Given the description of an element on the screen output the (x, y) to click on. 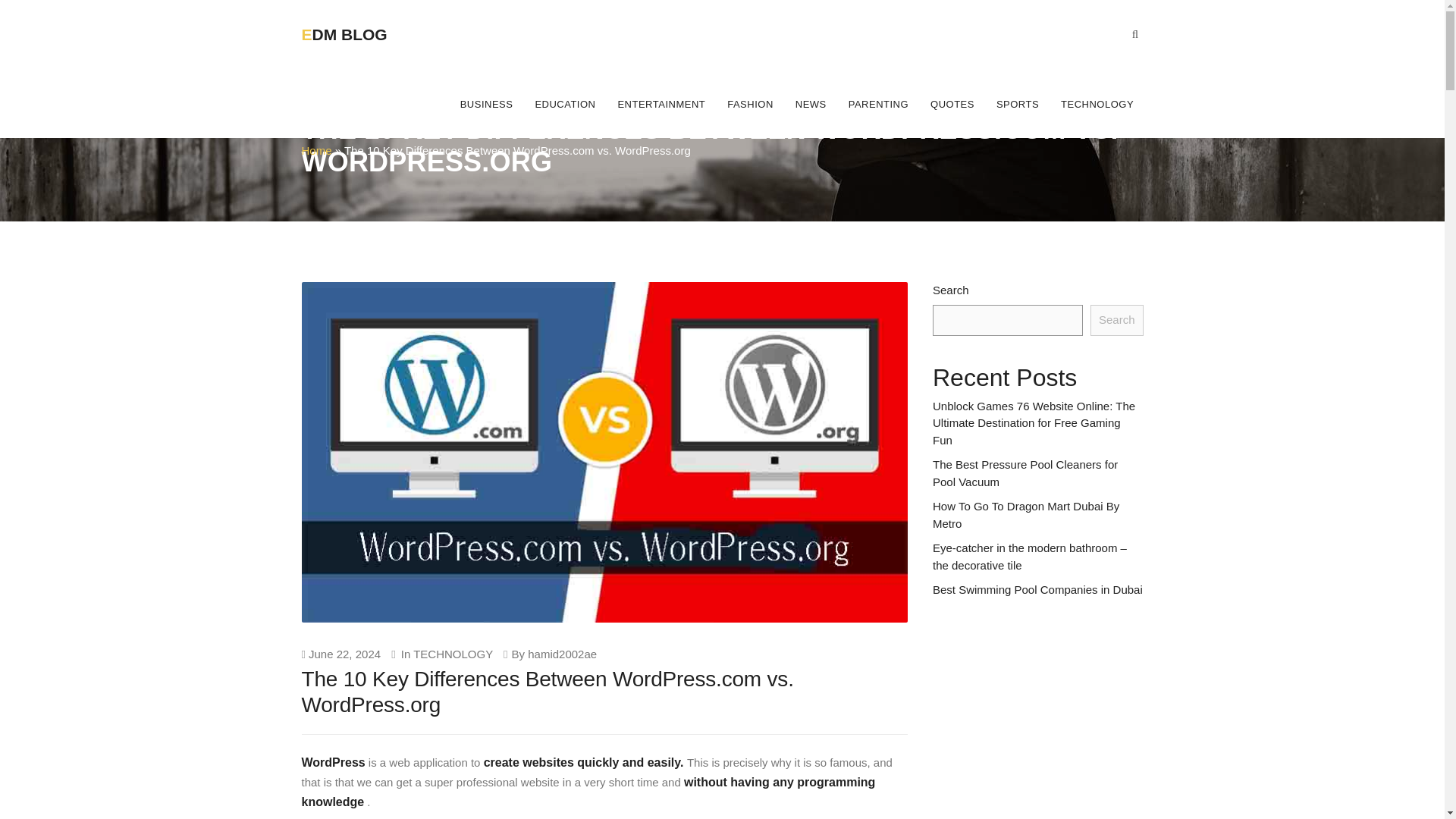
TECHNOLOGY (453, 653)
hamid2002ae (561, 653)
Home (316, 150)
FASHION (750, 102)
TECHNOLOGY (1096, 102)
PARENTING (877, 102)
BUSINESS (485, 102)
QUOTES (952, 102)
EDUCATION (565, 102)
ENTERTAINMENT (661, 102)
EDM BLOG (362, 23)
